Given the description of an element on the screen output the (x, y) to click on. 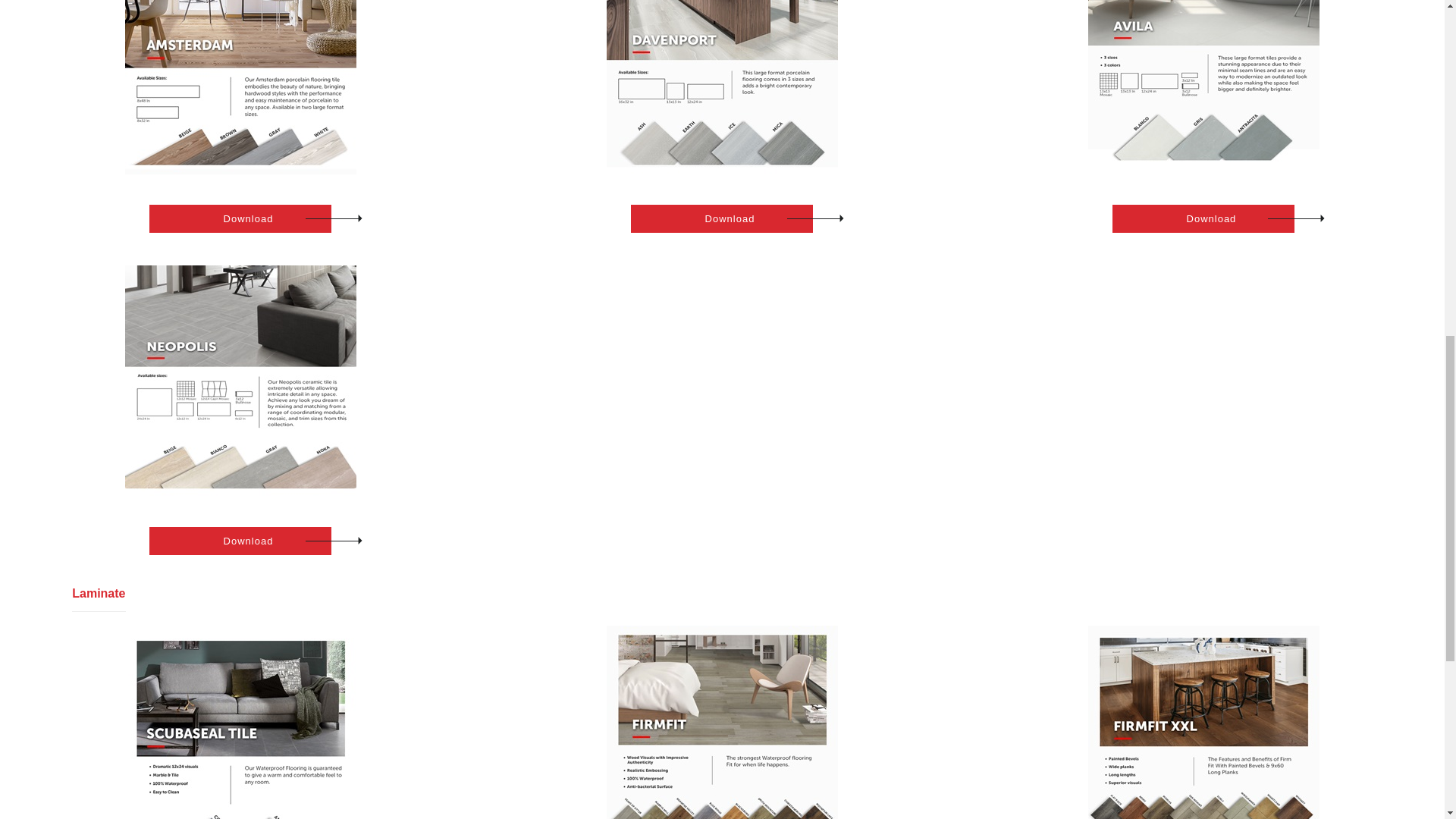
Download (240, 218)
Download (240, 541)
Download (721, 218)
Download (1203, 218)
